Given the description of an element on the screen output the (x, y) to click on. 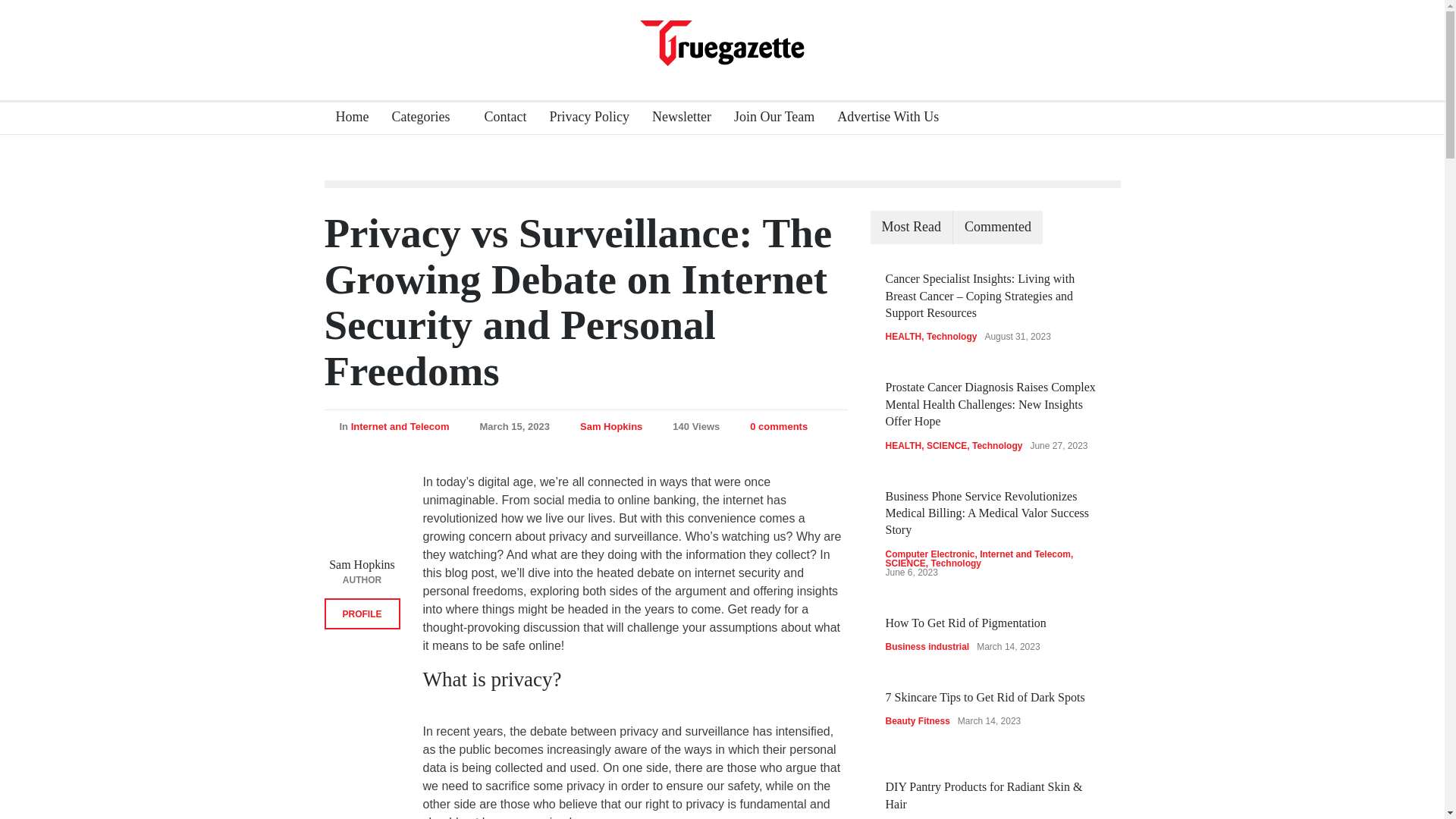
0 comments (778, 426)
Sam Hopkins (361, 563)
Advertise With Us (882, 118)
Truegazette (722, 40)
Sam Hopkins (610, 426)
0 comments (778, 426)
Sam Hopkins (610, 426)
Join Our Team (767, 118)
Categories (426, 118)
Contact (498, 118)
Internet and Telecom (399, 426)
Sam Hopkins (362, 510)
0 comments (771, 426)
